Given the description of an element on the screen output the (x, y) to click on. 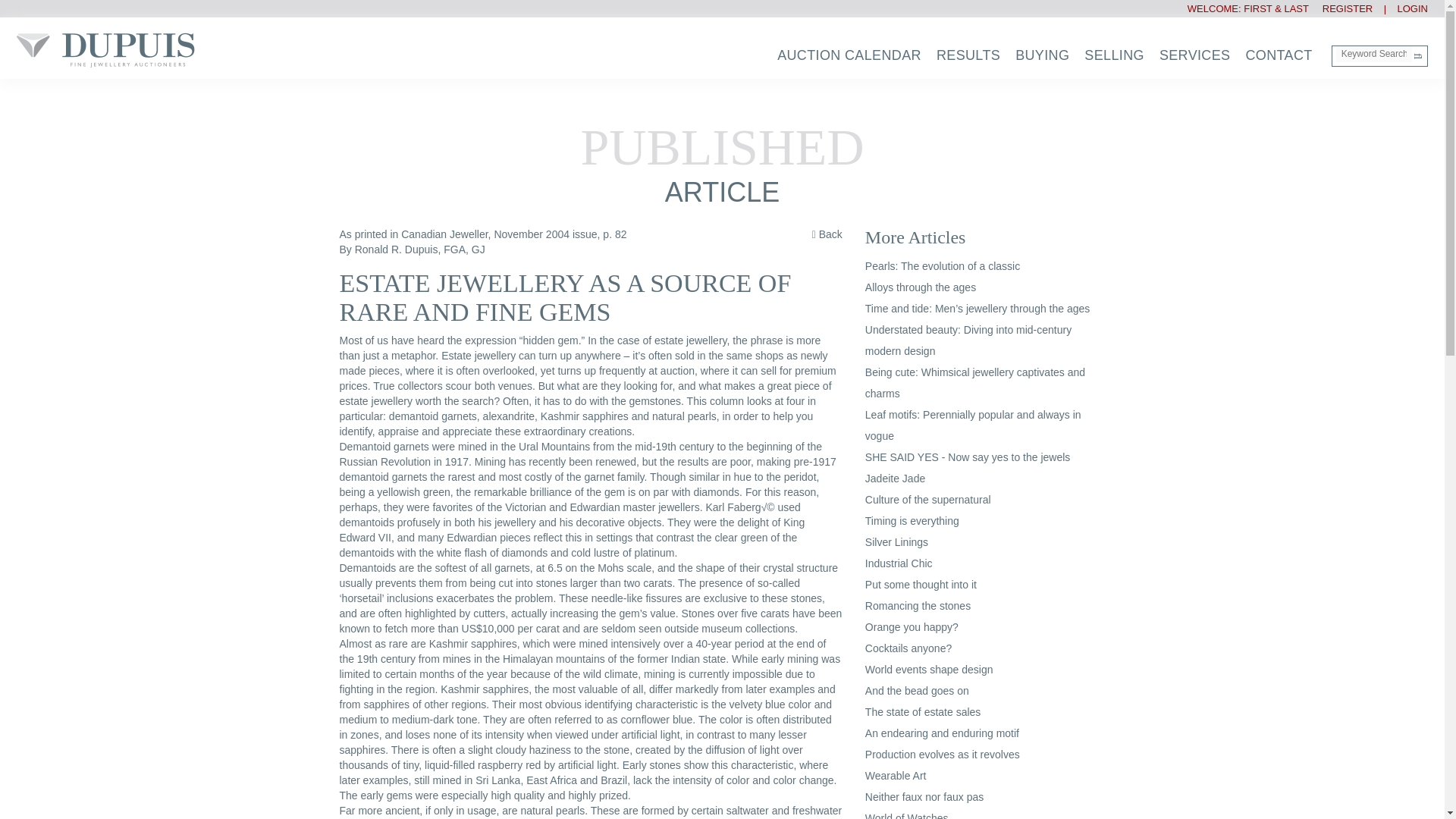
Alloys through the ages (919, 287)
Pearls: The evolution of a classic (942, 265)
Production evolves as it revolves (942, 754)
Put some thought into it (920, 584)
Back (827, 234)
And the bead goes on (916, 690)
Silver Linings (896, 541)
Being cute: Whimsical jewellery captivates and charms (974, 382)
World of Watches (906, 815)
    REGISTER (1342, 8)
